Given the description of an element on the screen output the (x, y) to click on. 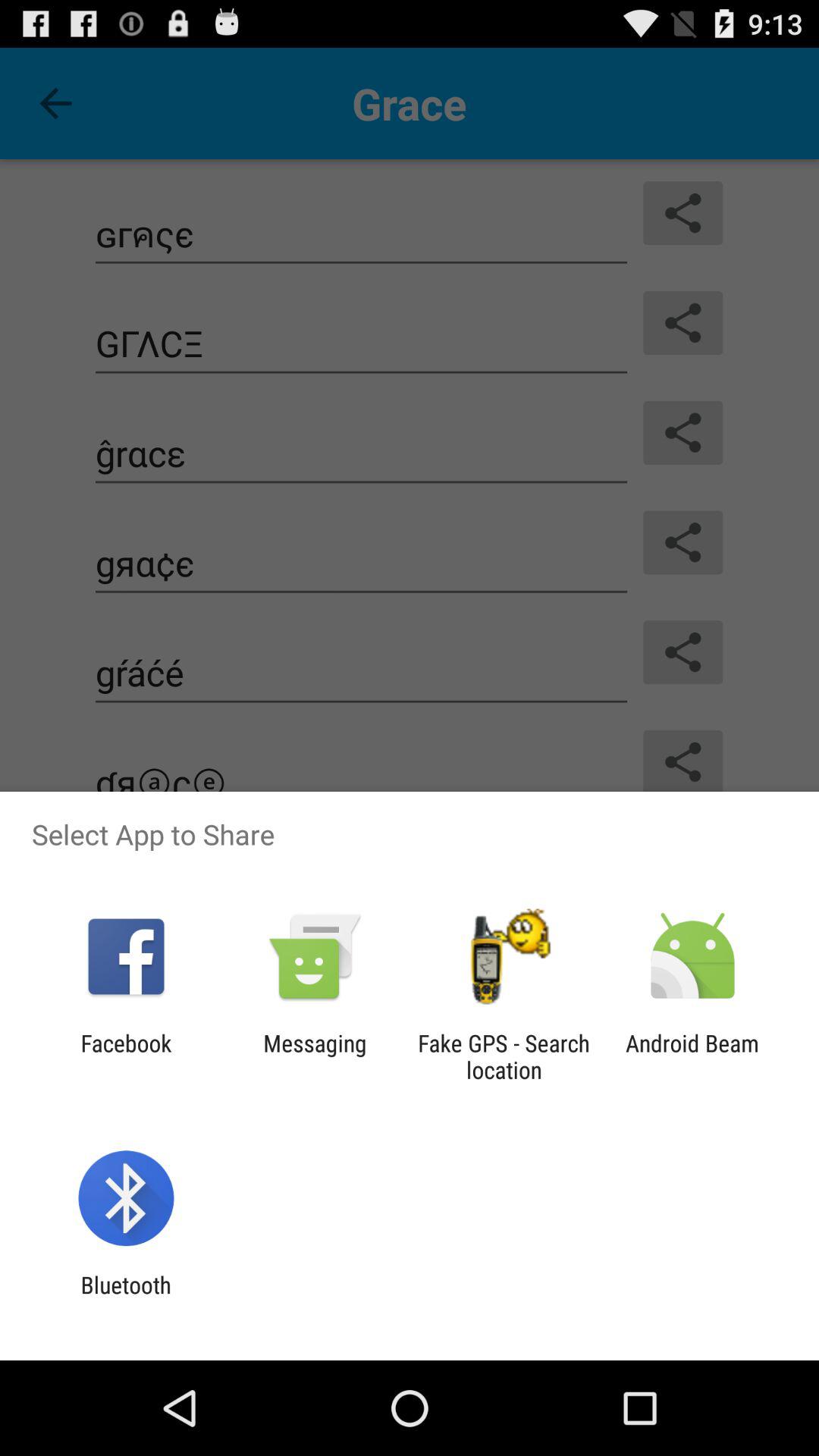
press item to the right of facebook icon (314, 1056)
